Given the description of an element on the screen output the (x, y) to click on. 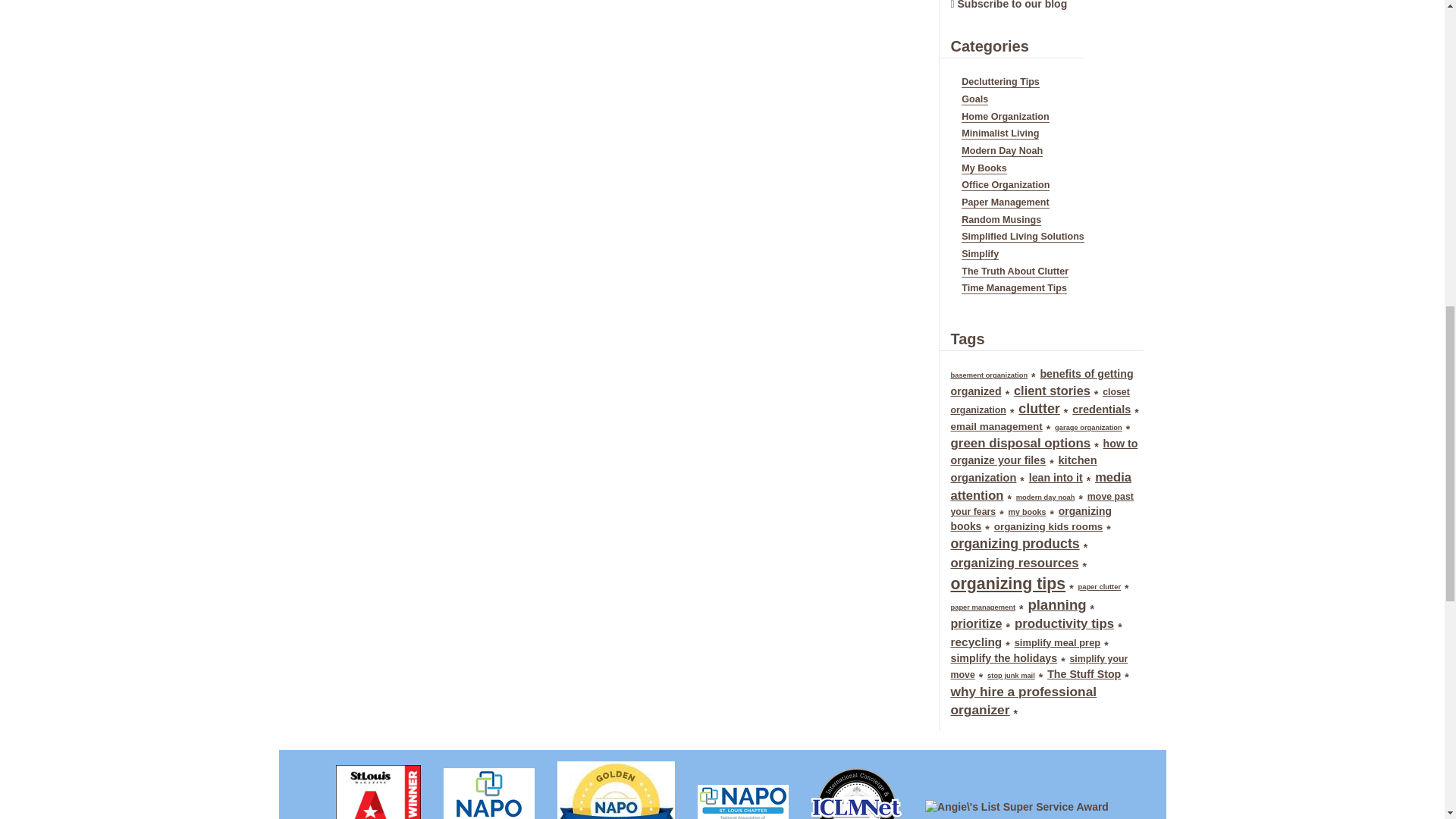
NAPO St Louis (742, 796)
NAPO National (489, 787)
Minimalist Living (999, 133)
Random Musings (1000, 220)
Simplified Living Solutions (1022, 236)
Modern Day Noah (1001, 151)
NAPO Golden Circle (615, 784)
Paper Management (1004, 202)
My Books (983, 168)
Decluttering Tips (999, 81)
